Given the description of an element on the screen output the (x, y) to click on. 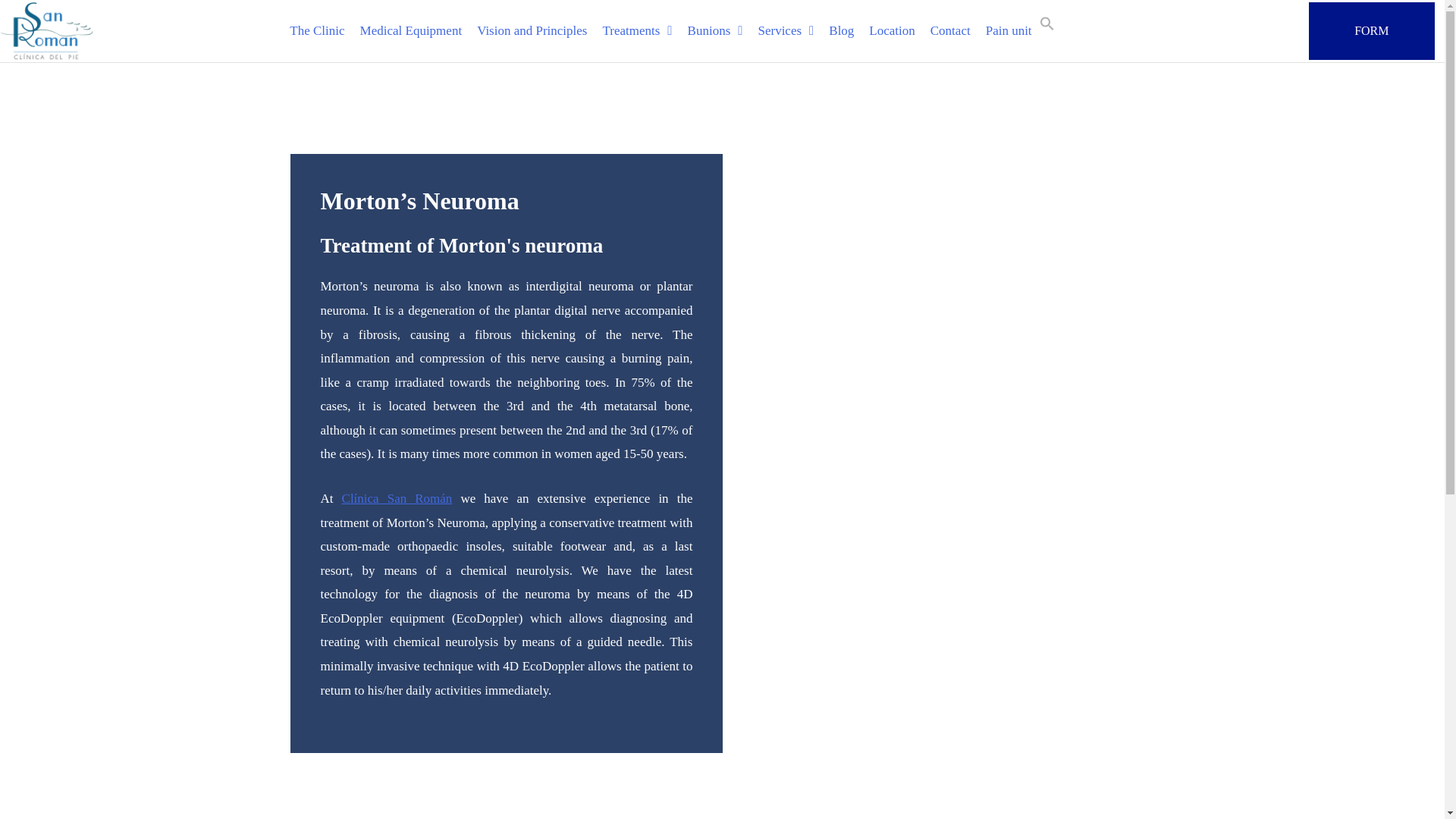
Bunions (715, 30)
Medical Equipment (411, 30)
The Clinic (317, 30)
Treatments (636, 30)
Vision and Principles (531, 30)
